Given the description of an element on the screen output the (x, y) to click on. 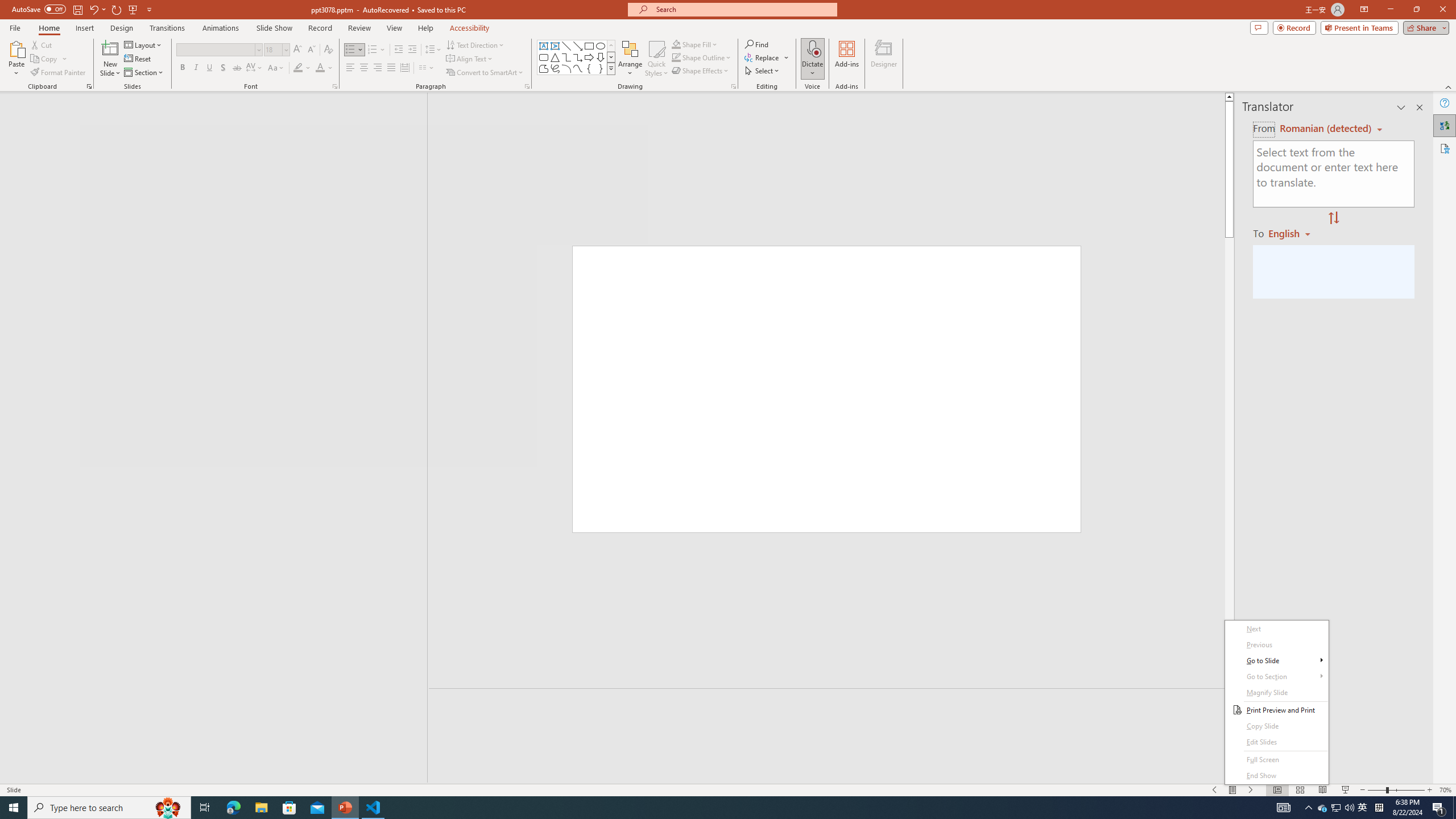
Romanian (1293, 232)
Swap "from" and "to" languages. (1333, 218)
